Given the description of an element on the screen output the (x, y) to click on. 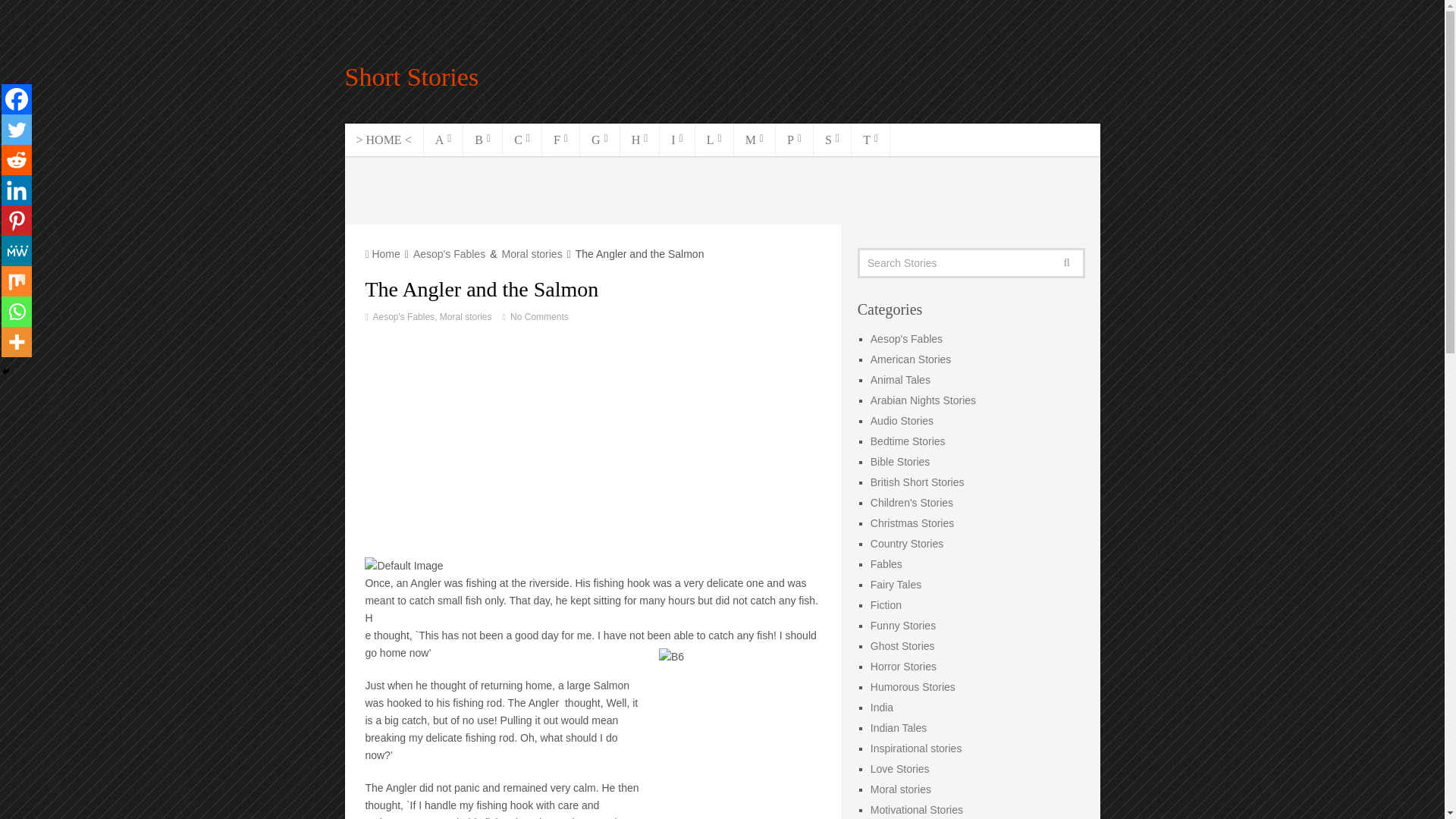
H (640, 139)
Advertisement (722, 190)
A (443, 139)
View all posts in Moral stories (465, 317)
Advertisement (593, 443)
M (754, 139)
B (482, 139)
T (870, 139)
G (599, 139)
View all posts in Aesop's Fables (402, 317)
MeWe (16, 250)
Twitter (16, 129)
L (714, 139)
Pinterest (16, 220)
Facebook (16, 99)
